Given the description of an element on the screen output the (x, y) to click on. 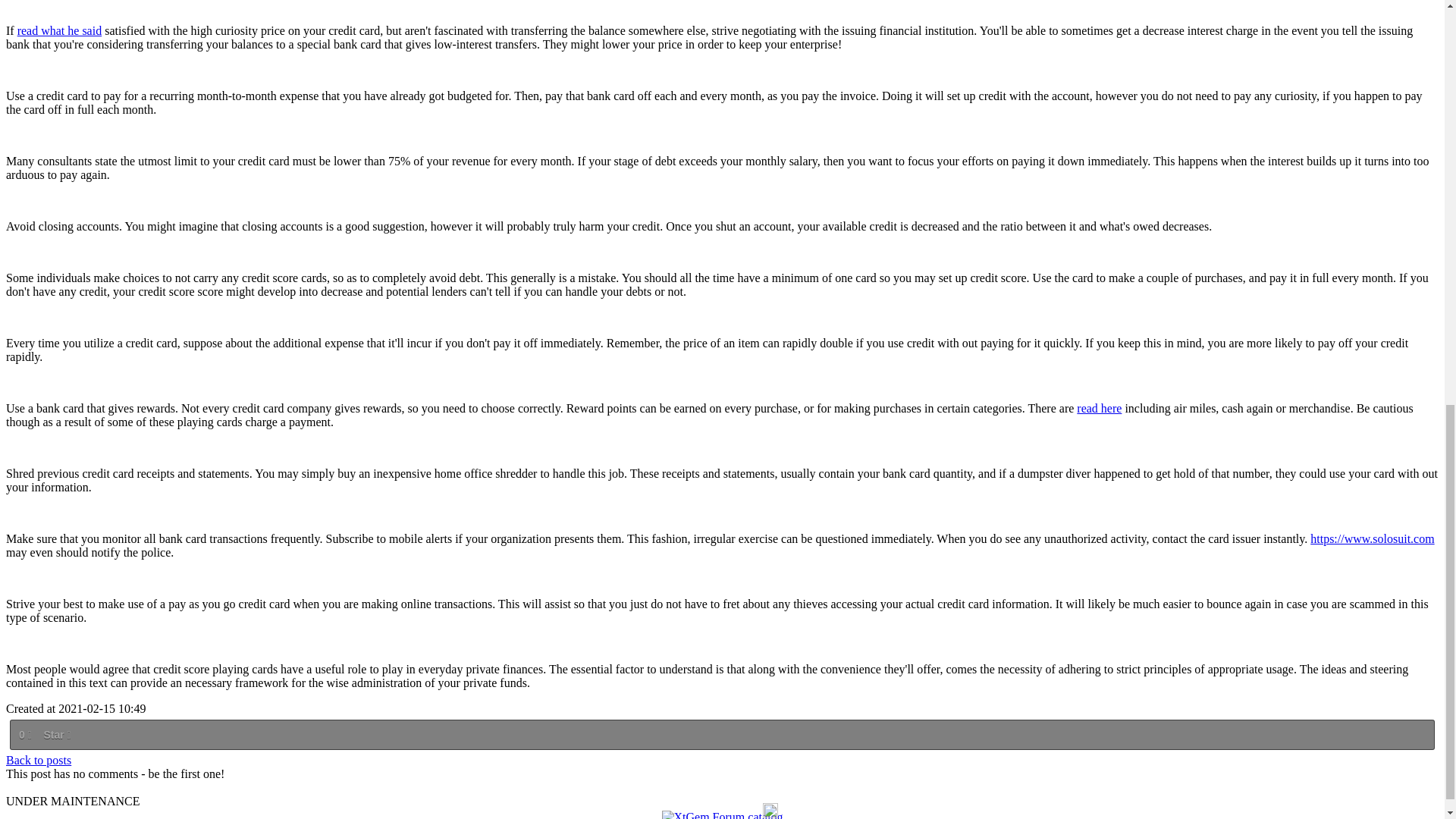
read here (1099, 408)
Star (56, 734)
Back to posts (38, 759)
0 (24, 734)
read what he said (59, 30)
